Given the description of an element on the screen output the (x, y) to click on. 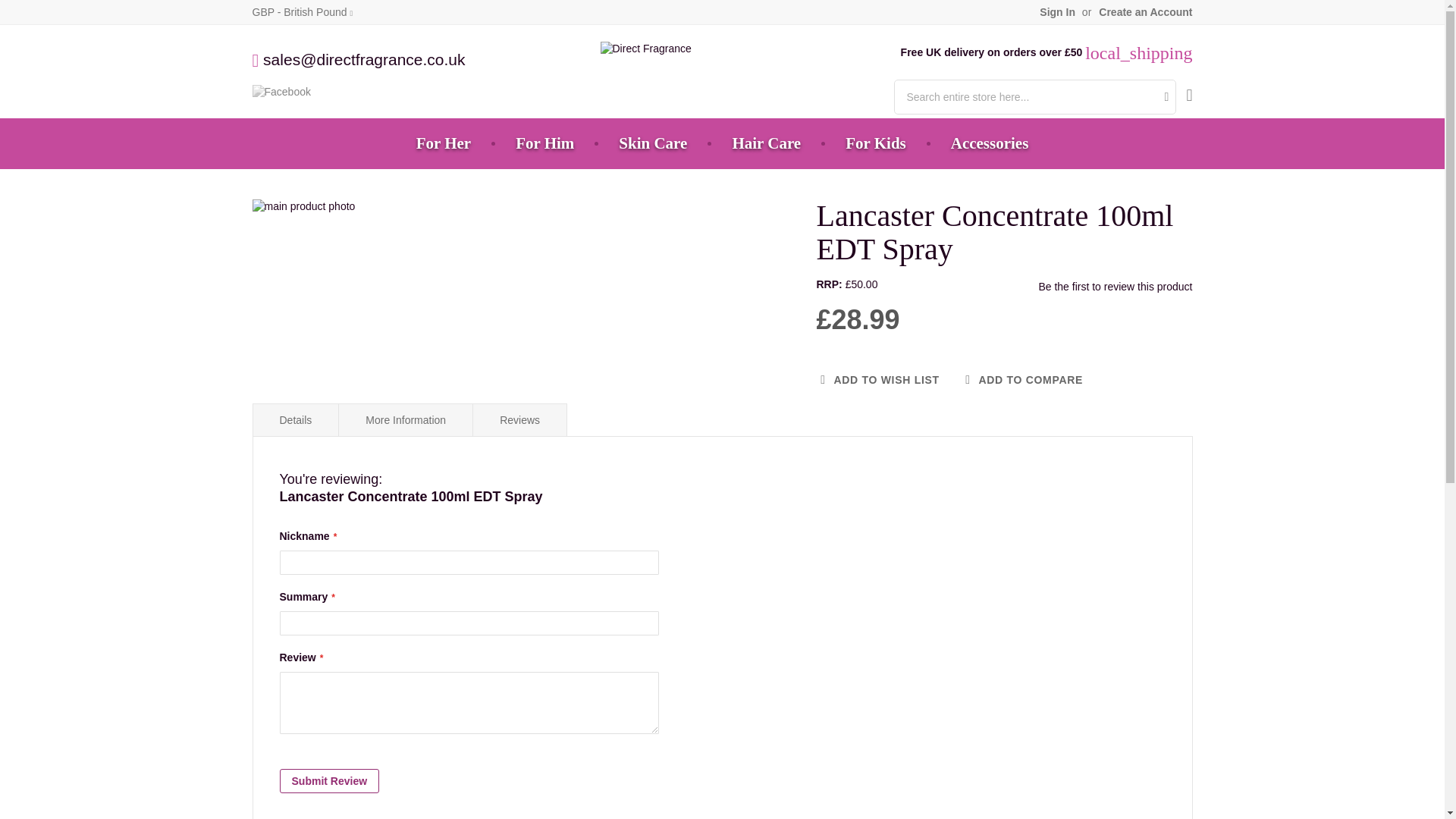
Visit Us On Facebook (280, 91)
Create an Account (1145, 12)
Sign In (1057, 12)
Direct Fragrance (645, 48)
For Her (443, 143)
